Given the description of an element on the screen output the (x, y) to click on. 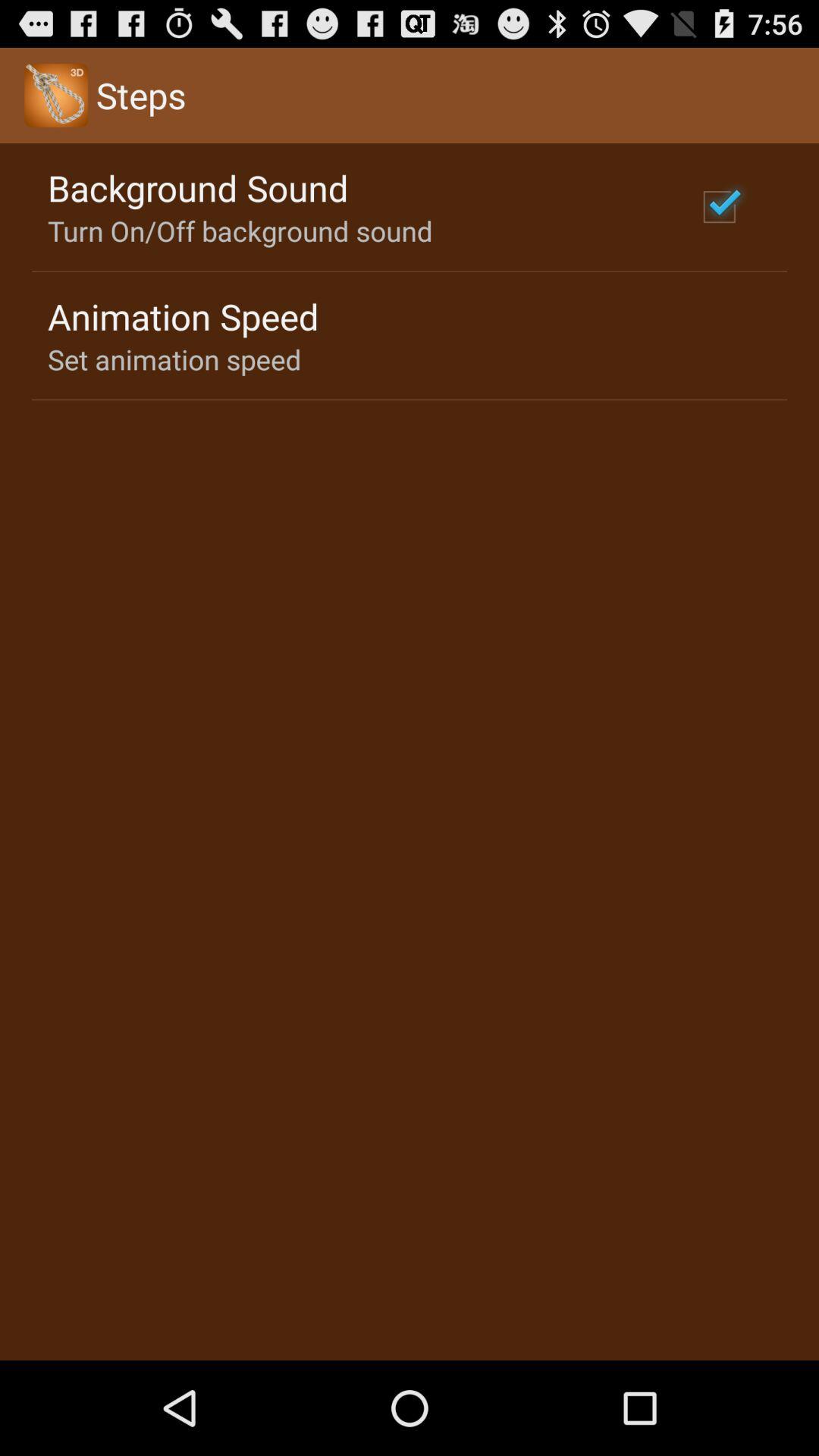
open icon to the right of turn on off app (719, 206)
